Given the description of an element on the screen output the (x, y) to click on. 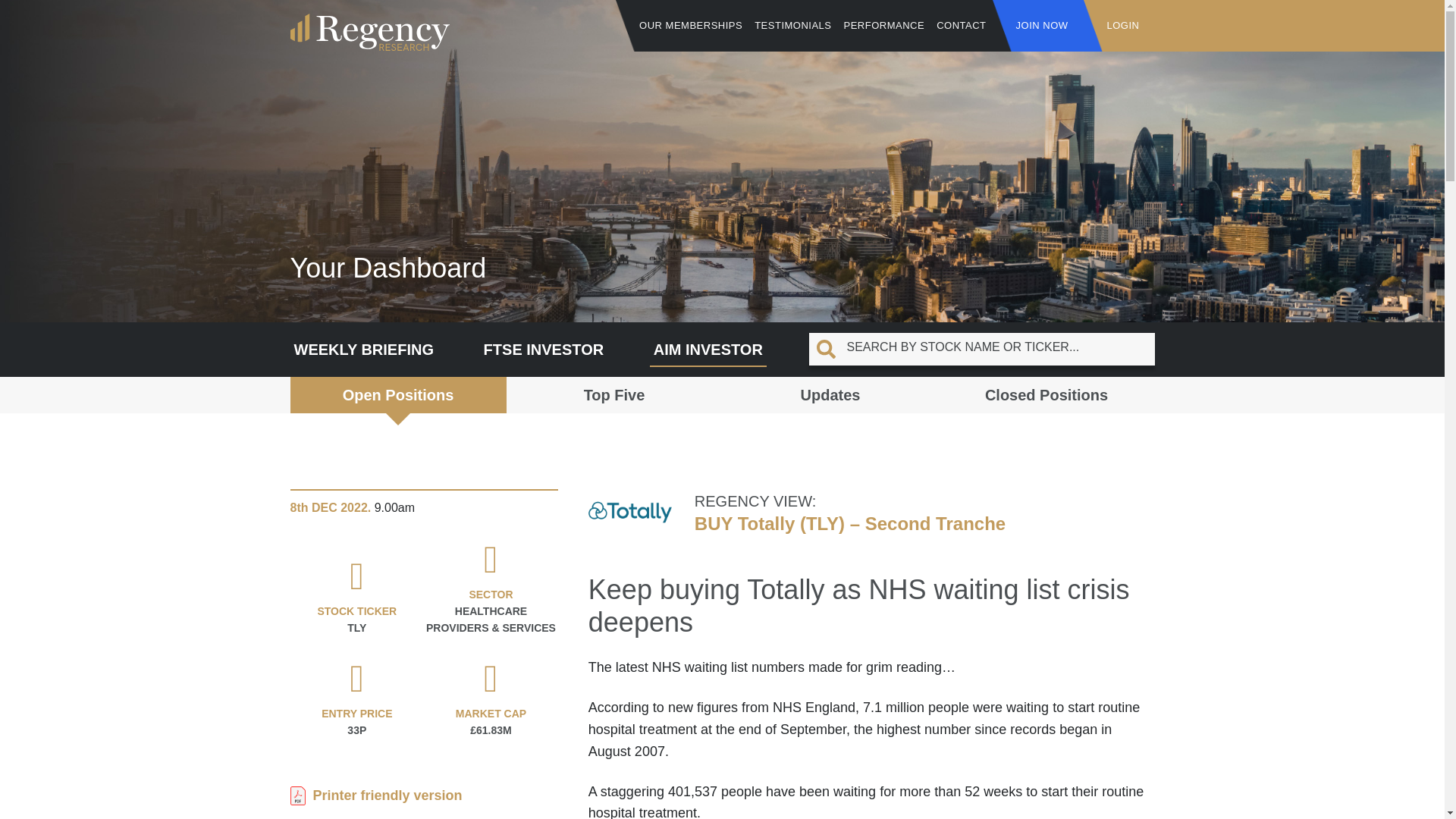
WEEKLY BRIEFING (362, 344)
TESTIMONIALS (792, 25)
PERFORMANCE (884, 25)
Top Five (614, 394)
Closed Positions (1046, 394)
Open Positions (397, 394)
Printer friendly version (423, 795)
Search (173, 18)
CONTACT (960, 25)
AIM INVESTOR (708, 344)
